Given the description of an element on the screen output the (x, y) to click on. 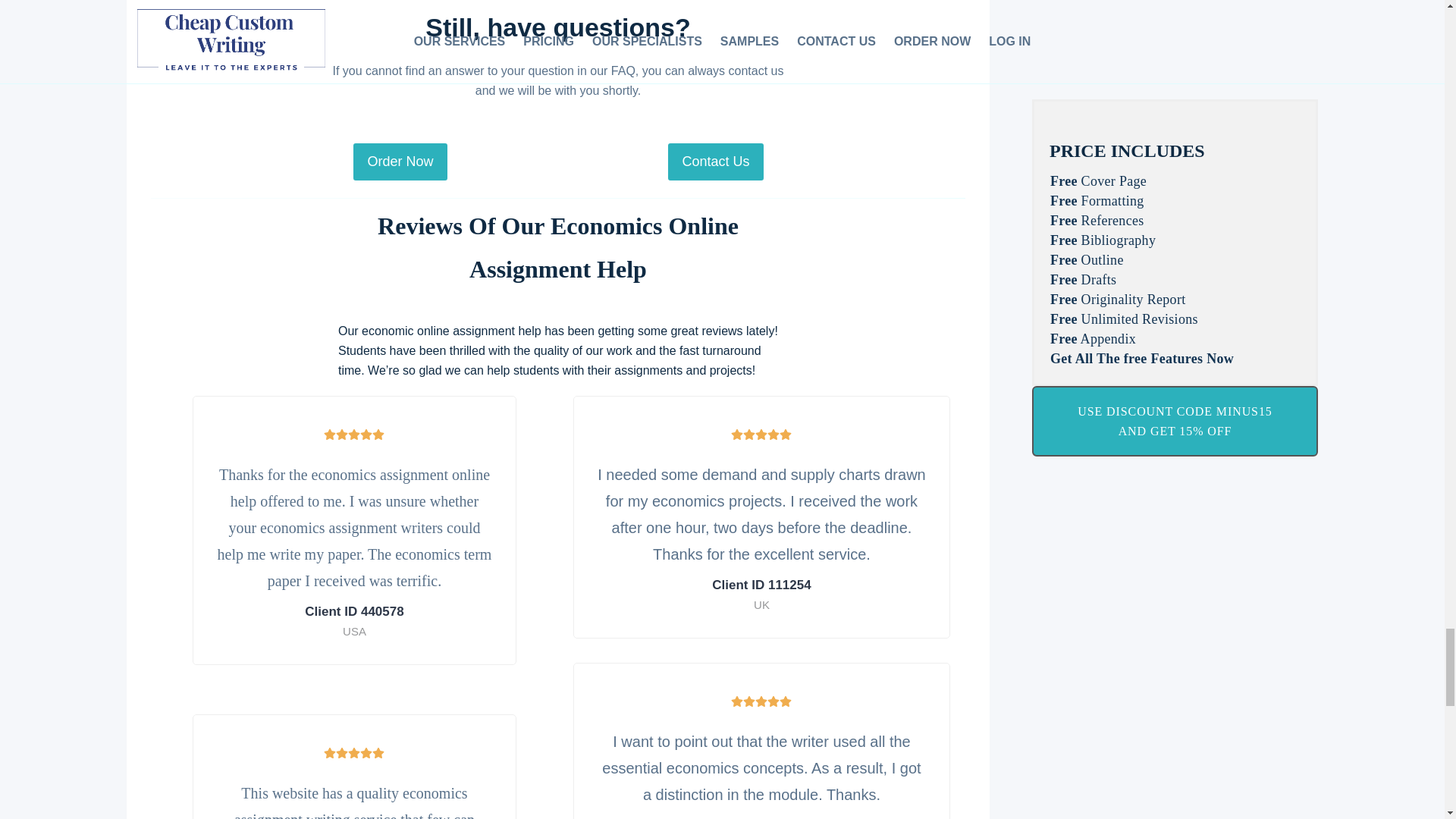
Order Now (399, 161)
Contact Us (715, 161)
